Given the description of an element on the screen output the (x, y) to click on. 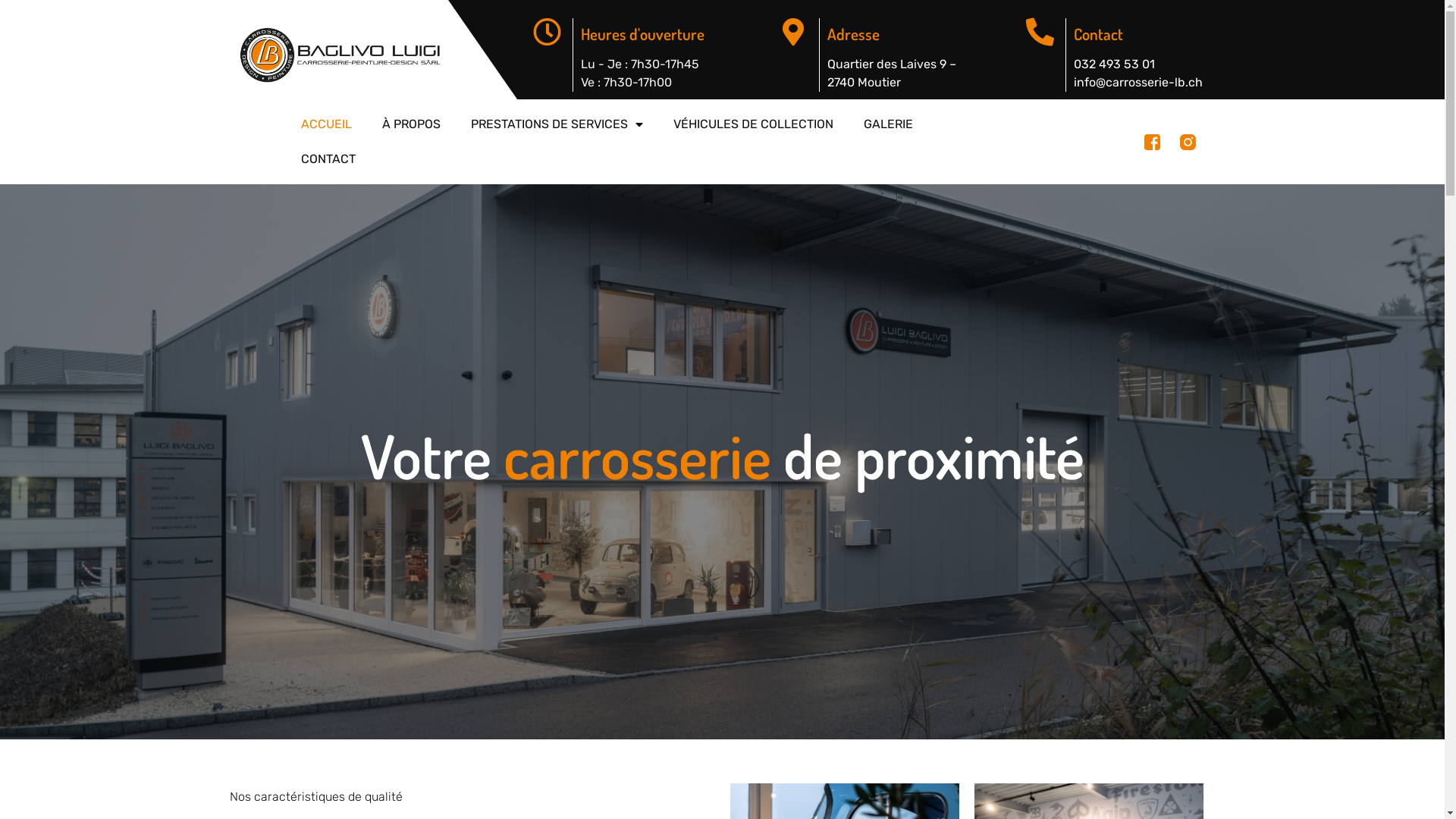
GALERIE Element type: text (887, 123)
CONTACT Element type: text (327, 158)
Adresse Element type: text (852, 33)
032 493 53 01 Element type: text (1113, 63)
info@carrosserie-lb.ch Element type: text (1137, 82)
PRESTATIONS DE SERVICES Element type: text (556, 123)
ACCUEIL Element type: text (325, 123)
